Given the description of an element on the screen output the (x, y) to click on. 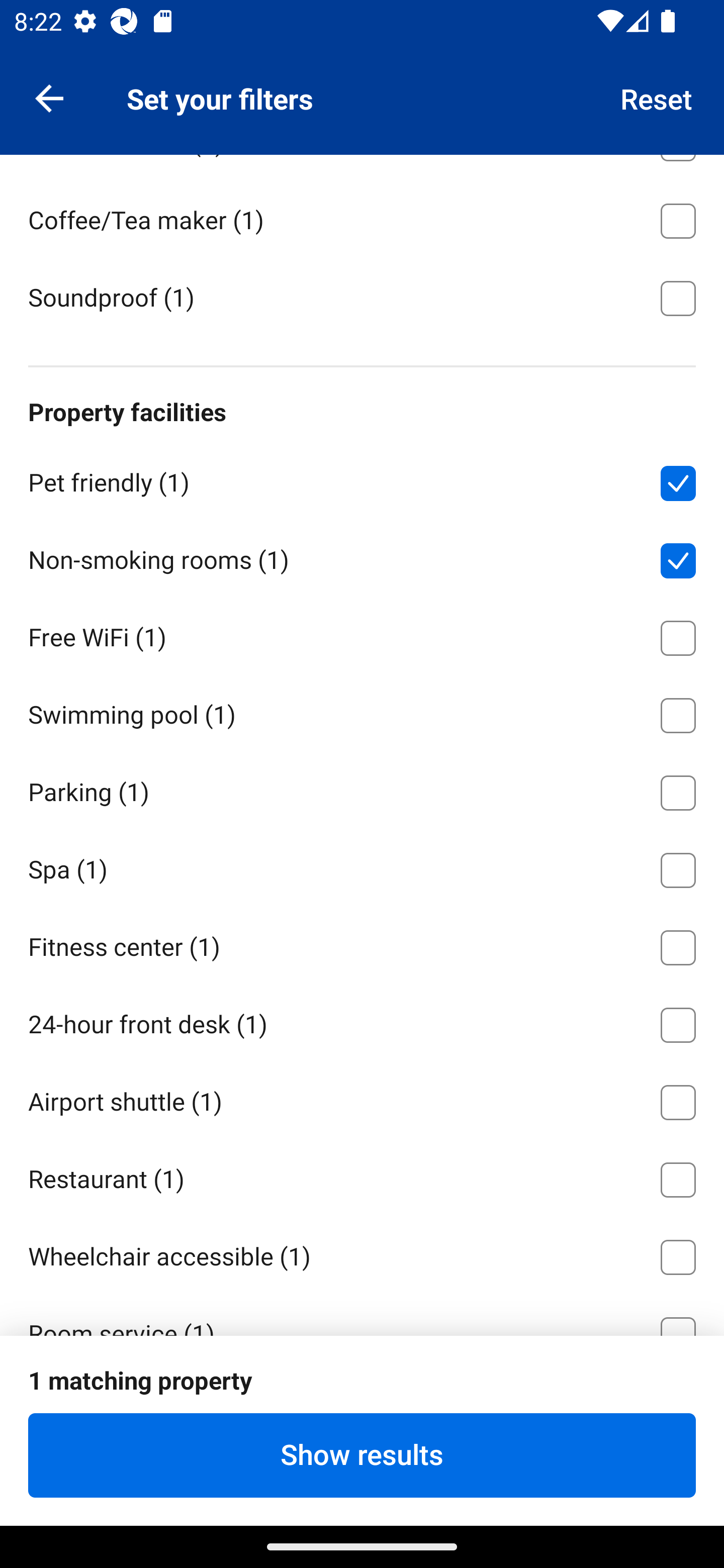
Navigate up (49, 97)
Reset (656, 97)
Coffee/Tea maker ⁦(1) (361, 216)
Soundproof ⁦(1) (361, 296)
Pet friendly ⁦(1) (361, 479)
Non-smoking rooms ⁦(1) (361, 557)
Free WiFi ⁦(1) (361, 633)
Swimming pool ⁦(1) (361, 711)
Parking ⁦(1) (361, 789)
Spa ⁦(1) (361, 866)
Fitness center ⁦(1) (361, 944)
24-hour front desk ⁦(1) (361, 1021)
Airport shuttle ⁦(1) (361, 1098)
Restaurant ⁦(1) (361, 1176)
Wheelchair accessible ⁦(1) (361, 1253)
Show results (361, 1454)
